Given the description of an element on the screen output the (x, y) to click on. 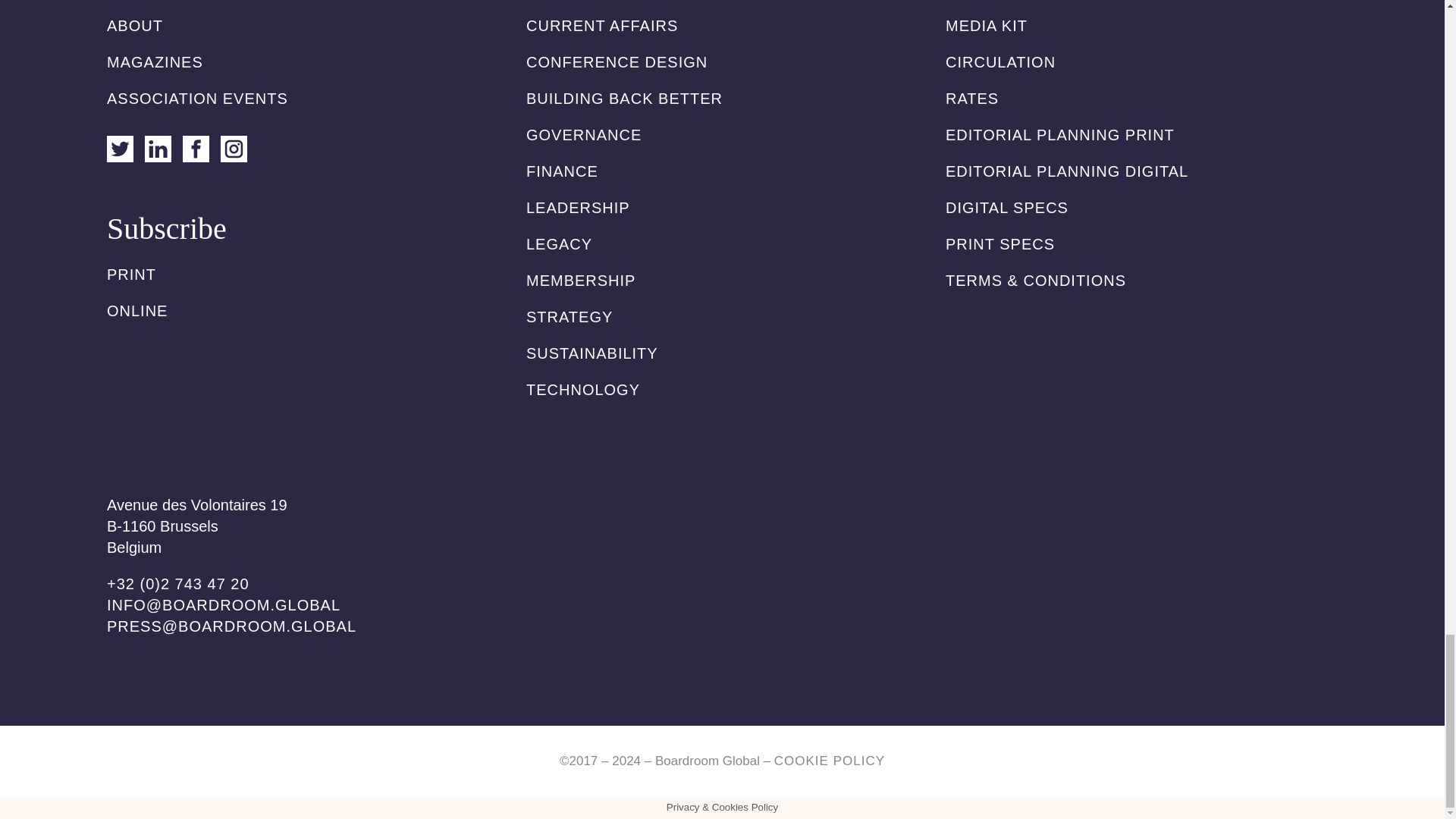
MAGAZINES (154, 61)
ABOUT (134, 25)
ASSOCIATION EVENTS (197, 98)
